Given the description of an element on the screen output the (x, y) to click on. 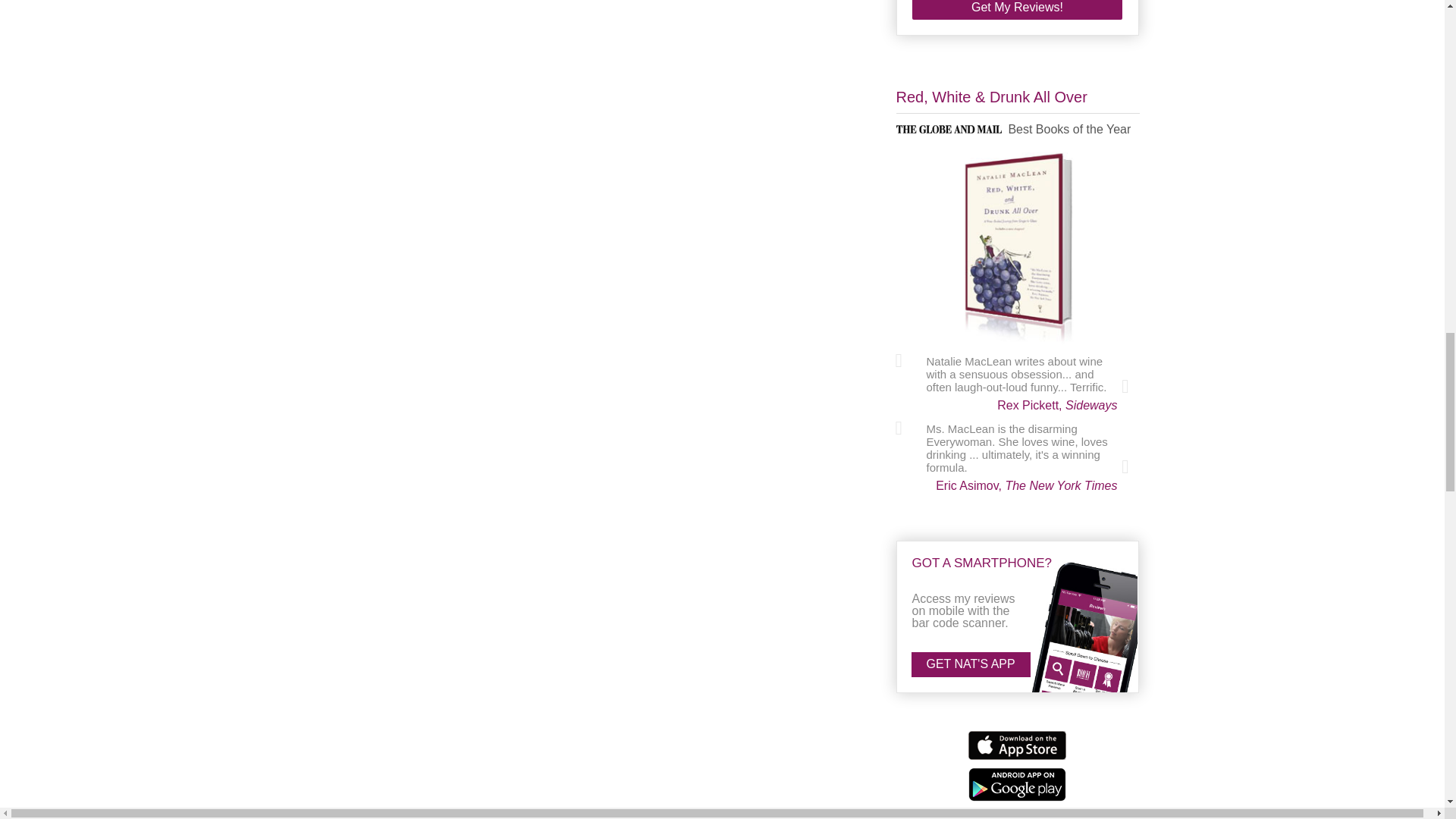
Red, White and Drunk All Over (1018, 249)
iOS App (1016, 744)
Android App (1016, 782)
